Given the description of an element on the screen output the (x, y) to click on. 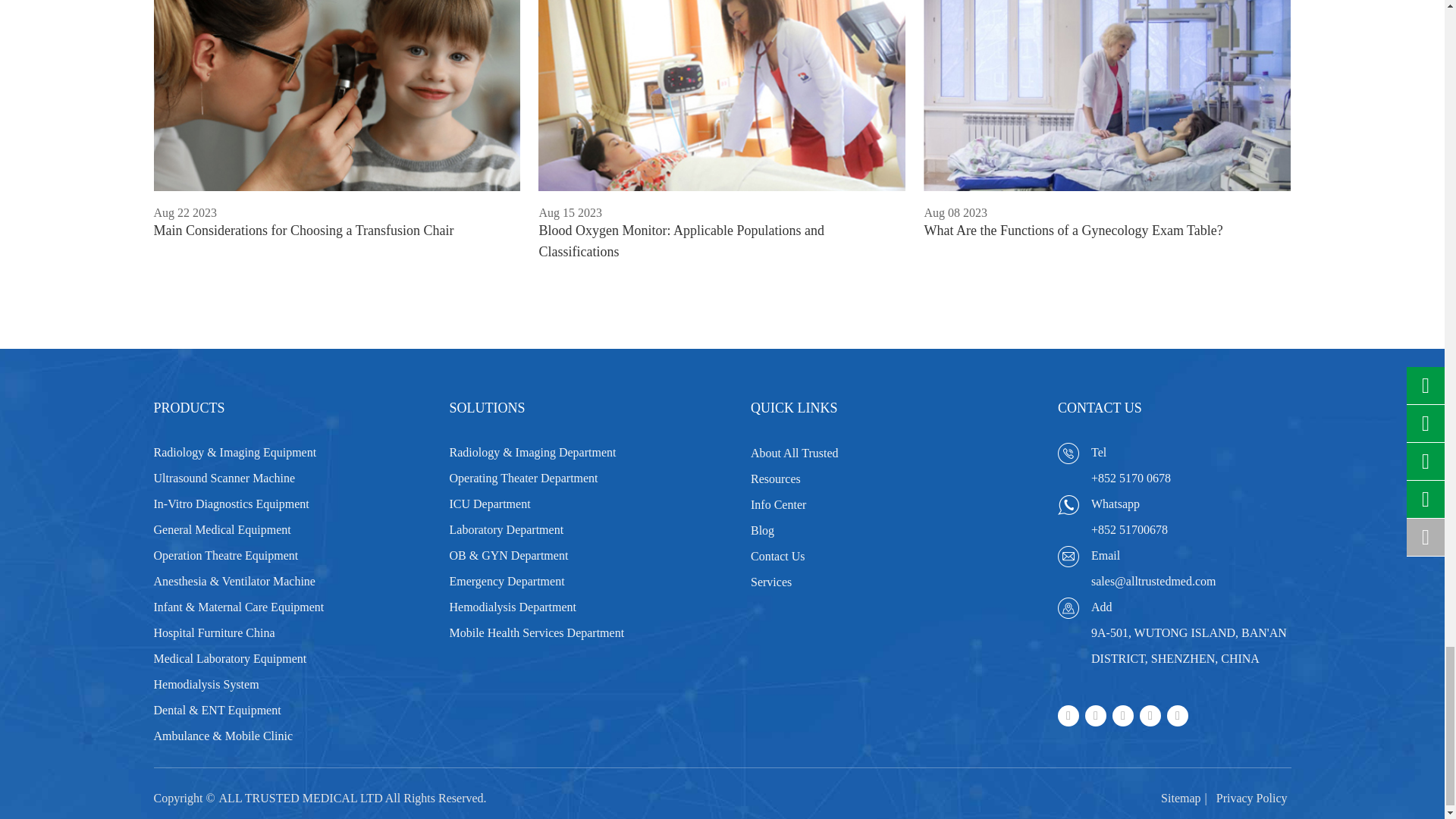
Main Considerations for Choosing a Transfusion Chair (335, 95)
